Given the description of an element on the screen output the (x, y) to click on. 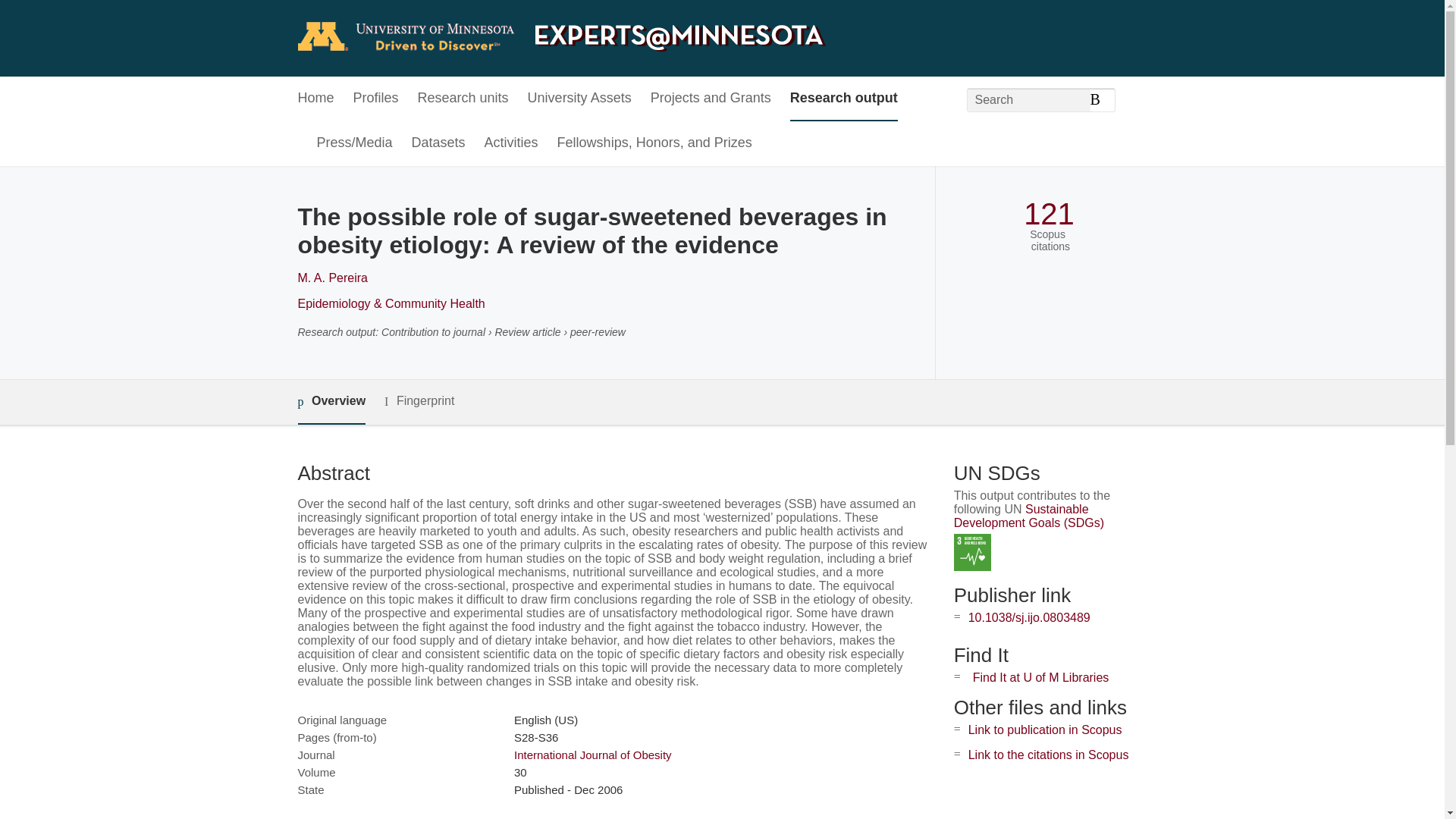
Link to publication in Scopus (1045, 729)
Find It at U of M Libraries (1040, 676)
Research units (462, 98)
Fingerprint (419, 401)
Overview (331, 402)
Link to the citations in Scopus (1048, 754)
International Journal of Obesity (592, 754)
Projects and Grants (710, 98)
Activities (511, 143)
SDG 3 - Good Health and Well-being (972, 551)
M. A. Pereira (331, 277)
121 (1048, 213)
Fellowships, Honors, and Prizes (654, 143)
Research output (844, 98)
